Given the description of an element on the screen output the (x, y) to click on. 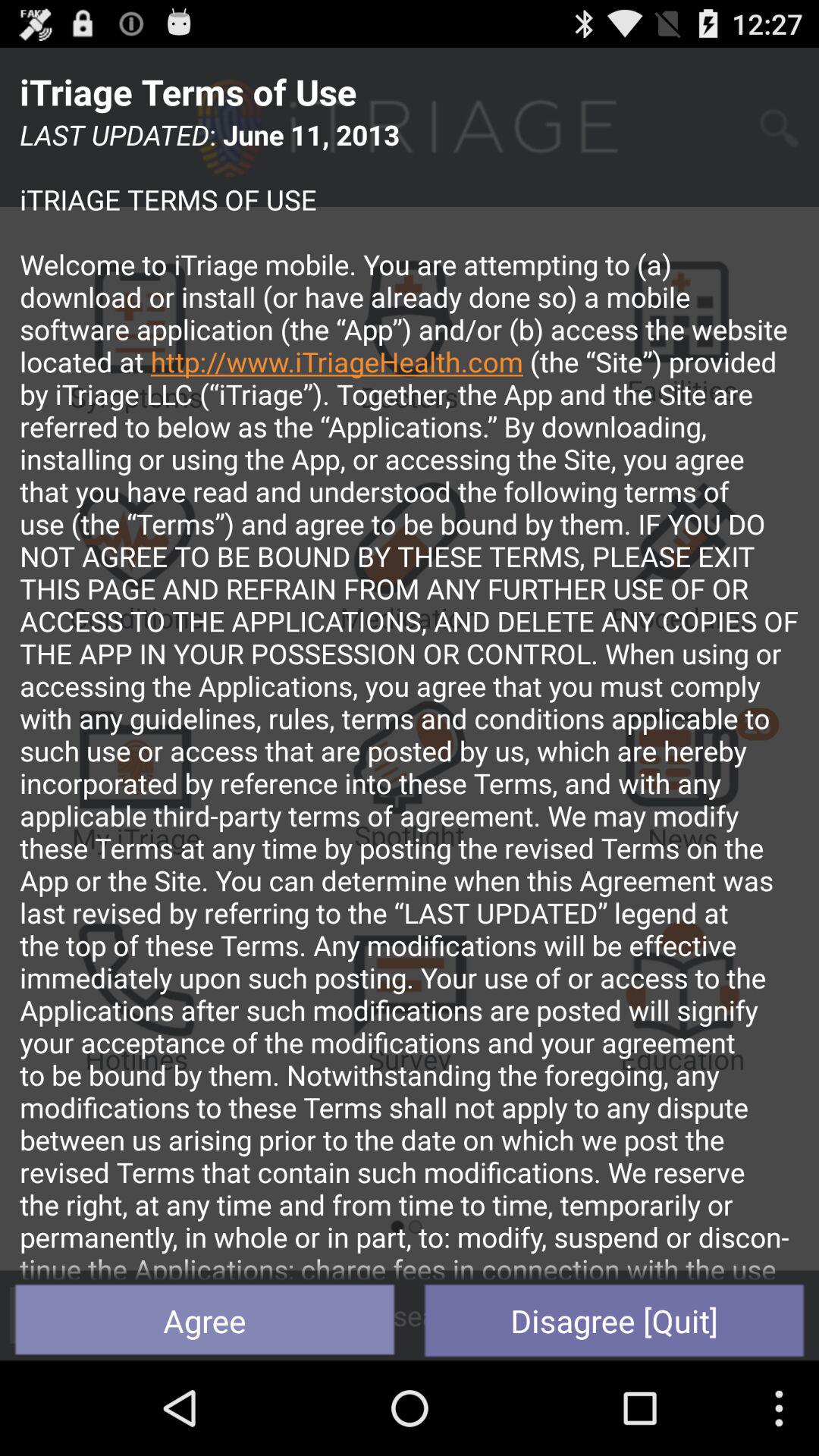
click item below last updated june (613, 1320)
